Given the description of an element on the screen output the (x, y) to click on. 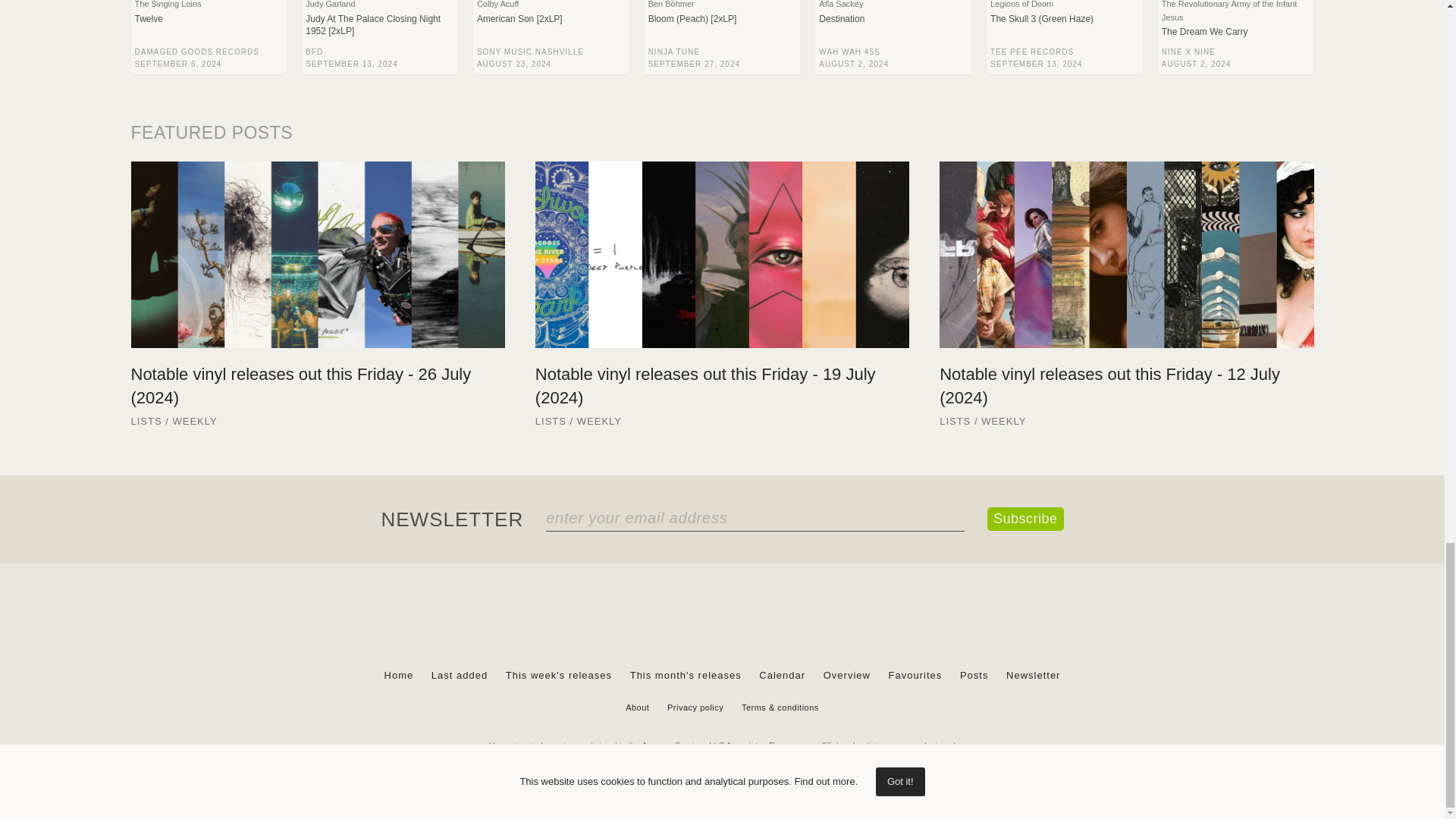
Subscribe (1025, 518)
